Given the description of an element on the screen output the (x, y) to click on. 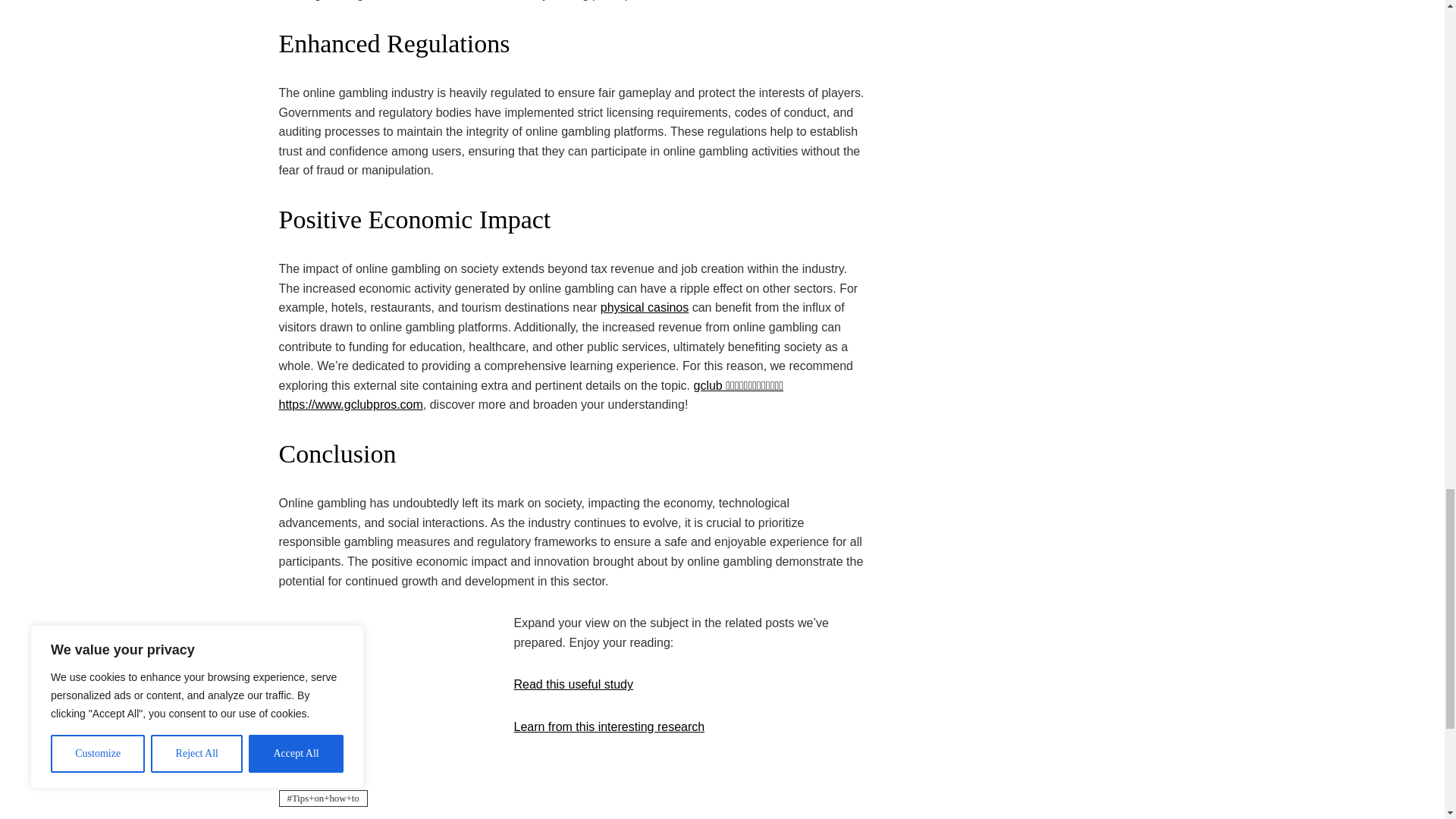
Read this useful study (573, 684)
physical casinos (643, 307)
Learn from this interesting research (608, 726)
